Given the description of an element on the screen output the (x, y) to click on. 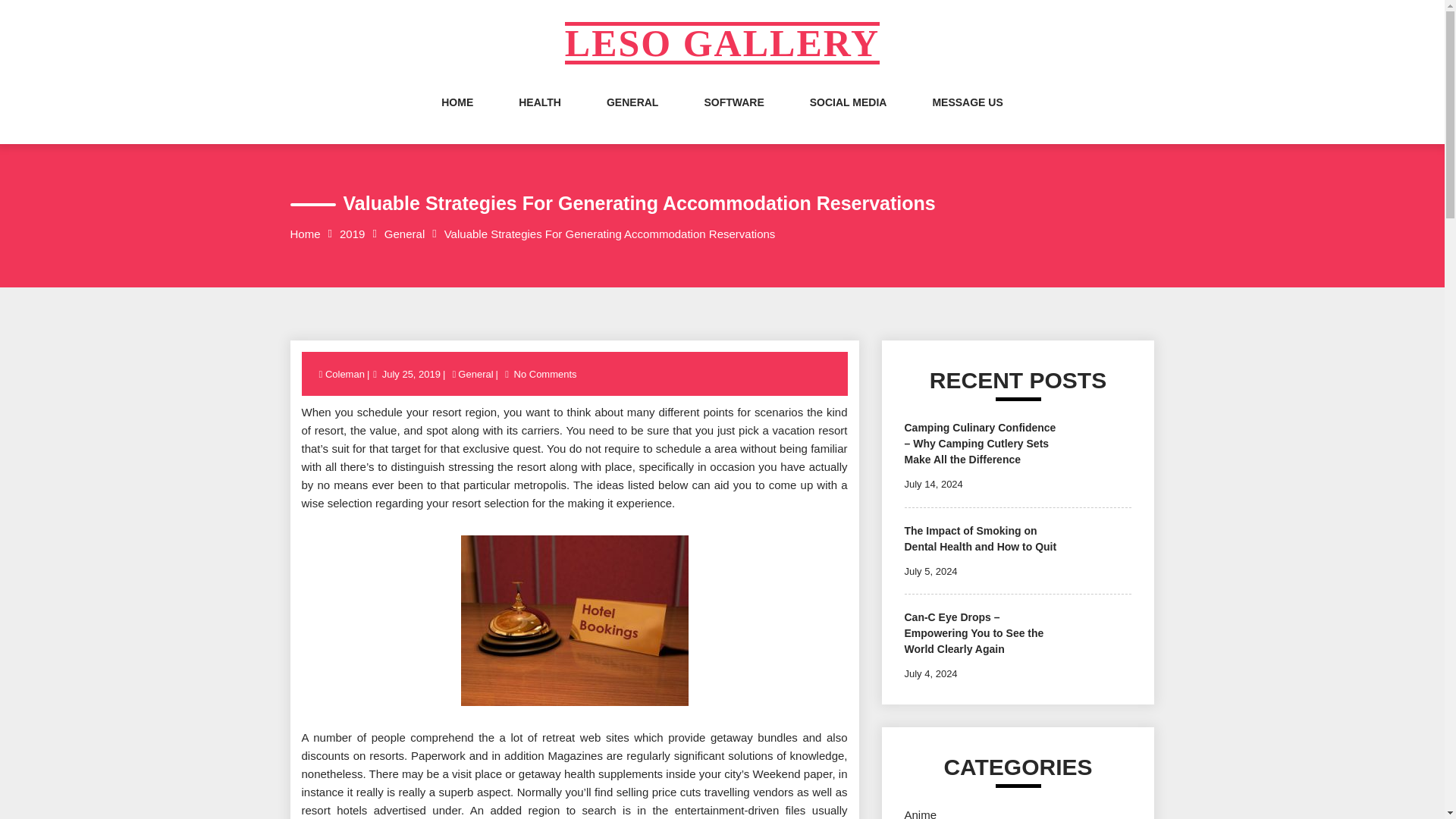
SOCIAL MEDIA (847, 117)
General (404, 233)
Home (304, 233)
MESSAGE US (967, 117)
HEALTH (539, 117)
LESO GALLERY (721, 43)
No Comments (545, 374)
Anime (920, 813)
SOFTWARE (732, 117)
The Impact of Smoking on Dental Health and How to Quit (980, 538)
July 25, 2019 (411, 374)
HOME (457, 117)
General (475, 374)
GENERAL (632, 117)
2019 (352, 233)
